Given the description of an element on the screen output the (x, y) to click on. 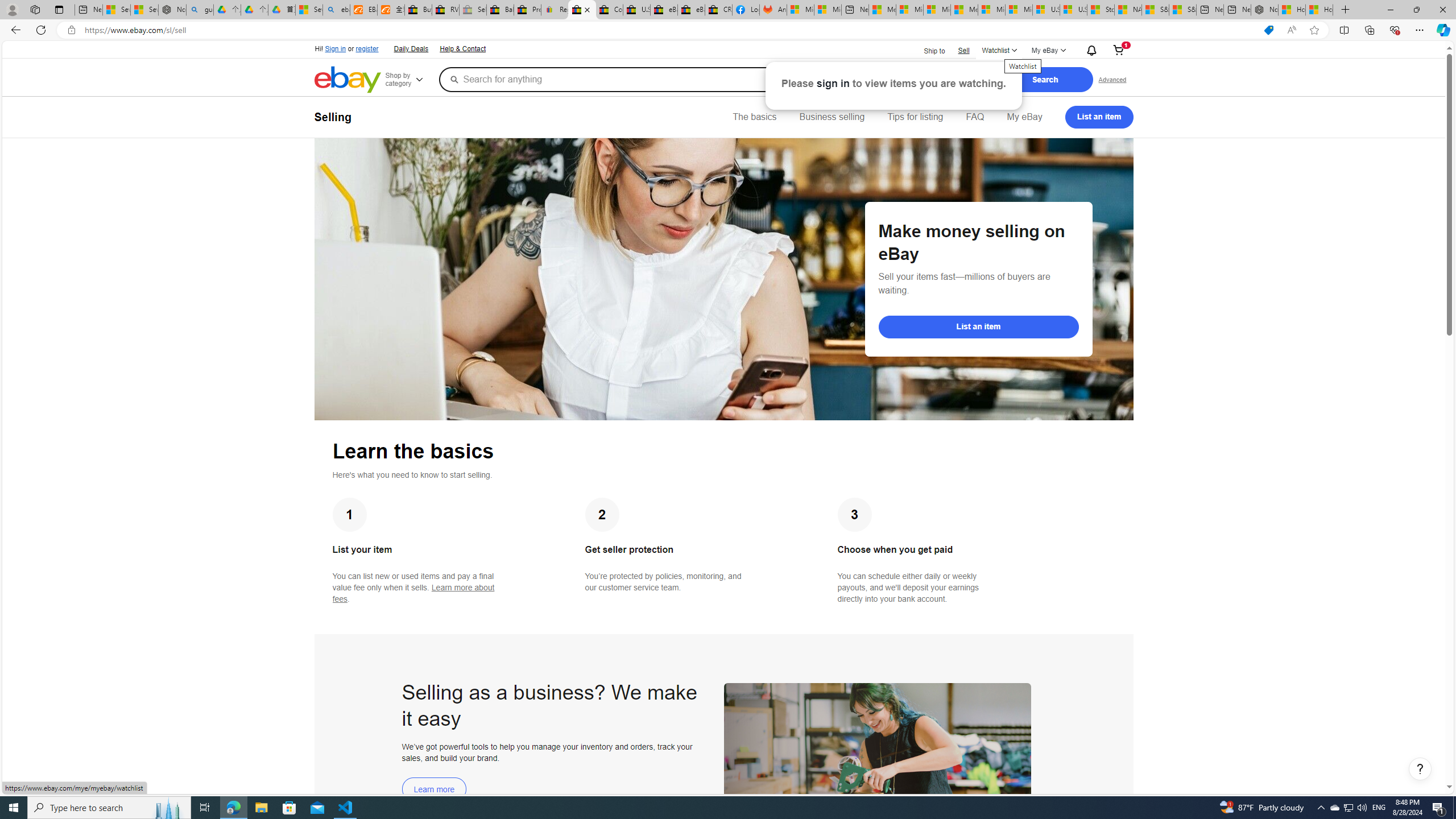
Ship to (927, 50)
Daily Deals (410, 48)
This site has coupons! Shopping in Microsoft Edge (1268, 29)
Expand Cart (1118, 50)
The basics (754, 116)
Search for anything (667, 78)
U.S. State Privacy Disclosures - eBay Inc. (636, 9)
The basics (754, 116)
Register: Create a personal eBay account (554, 9)
register (366, 49)
